Given the description of an element on the screen output the (x, y) to click on. 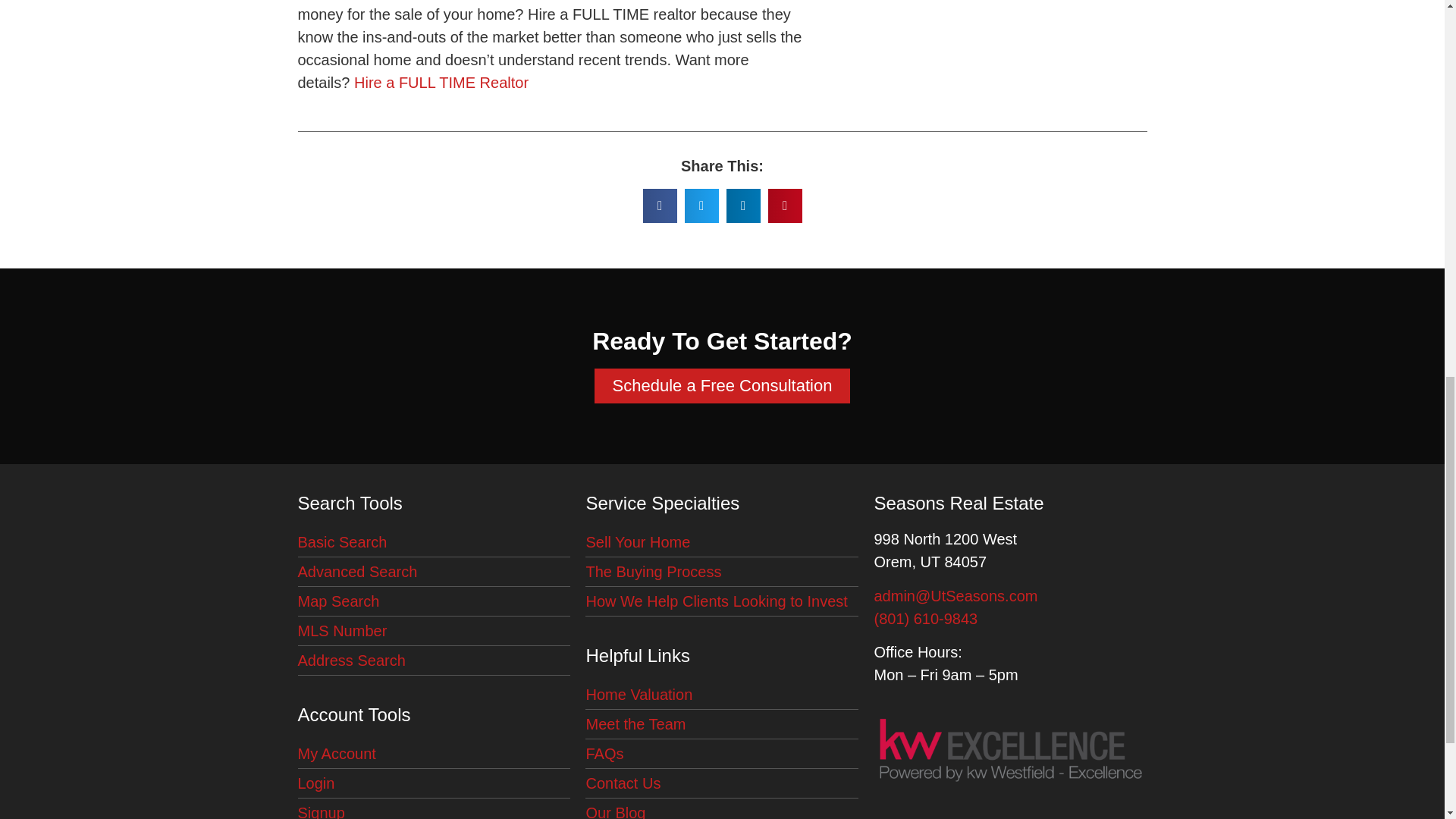
Hire a FULL TIME Realtor (440, 82)
Address Search (433, 660)
Map Search (433, 601)
Basic Search (433, 542)
Schedule a Free Consultation (722, 385)
Advanced Search (433, 572)
MLS Number (433, 631)
My Account (433, 754)
